Given the description of an element on the screen output the (x, y) to click on. 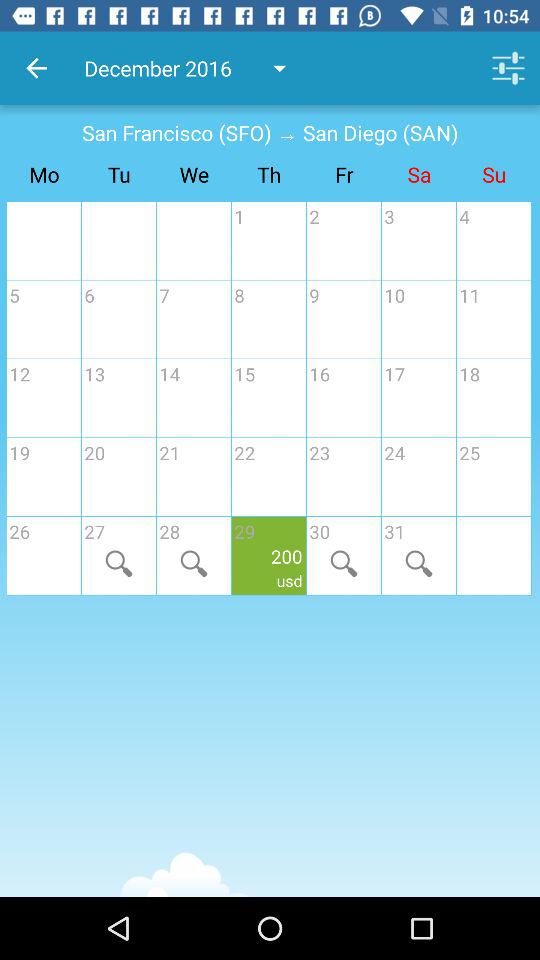
turn on icon next to the december 2016 item (36, 68)
